Given the description of an element on the screen output the (x, y) to click on. 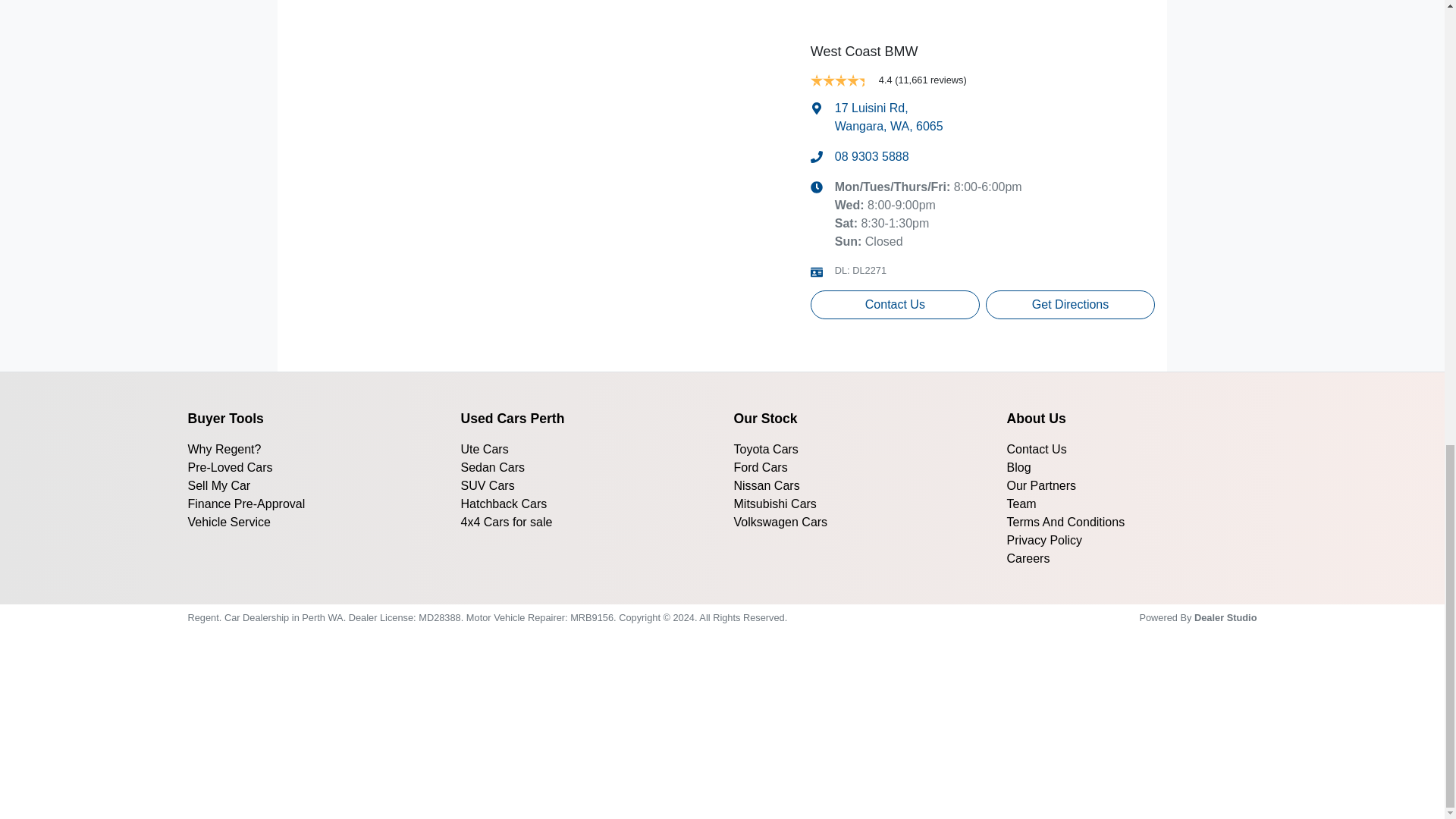
Vehicle Service (228, 521)
Get Directions (1069, 304)
08 9303 5888 (871, 157)
Contact Us (888, 117)
Finance Pre-Approval (894, 304)
Sell My Car (246, 503)
Pre-Loved Cars (218, 485)
Why Regent? (230, 467)
Ute Cars (224, 449)
